Given the description of an element on the screen output the (x, y) to click on. 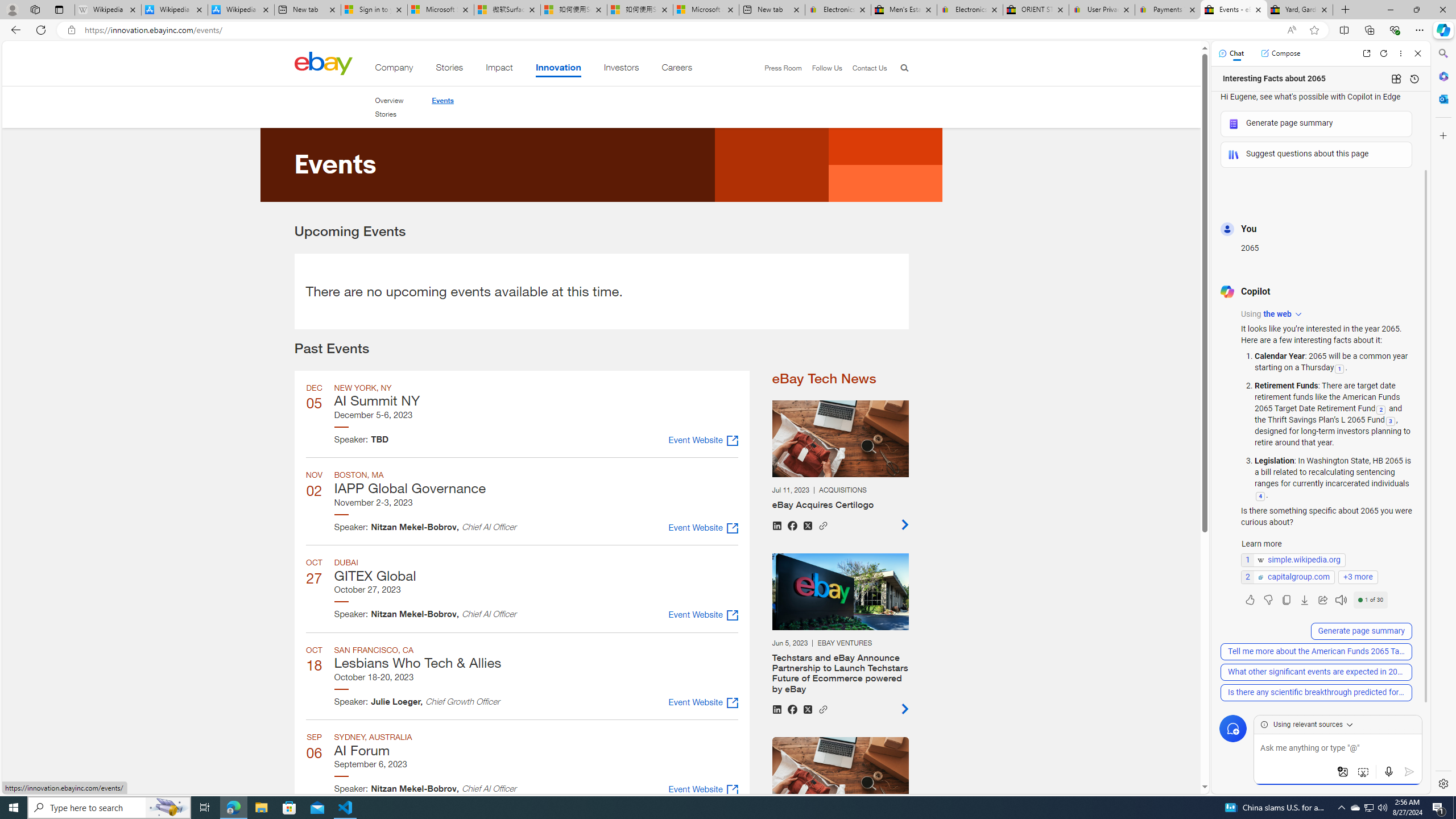
Innovation . This is the current section. (557, 69)
